Given the description of an element on the screen output the (x, y) to click on. 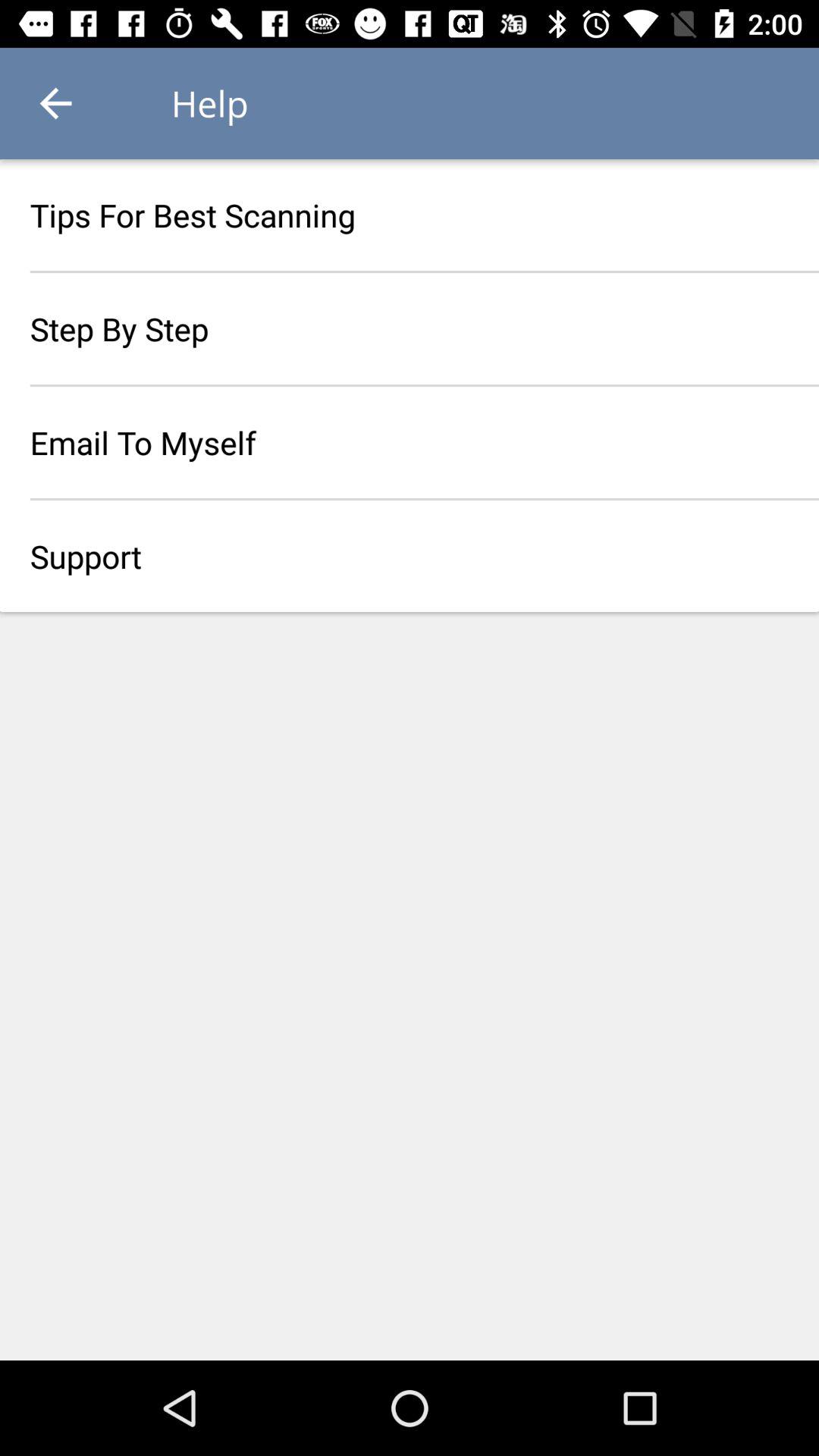
swipe until support (409, 555)
